Given the description of an element on the screen output the (x, y) to click on. 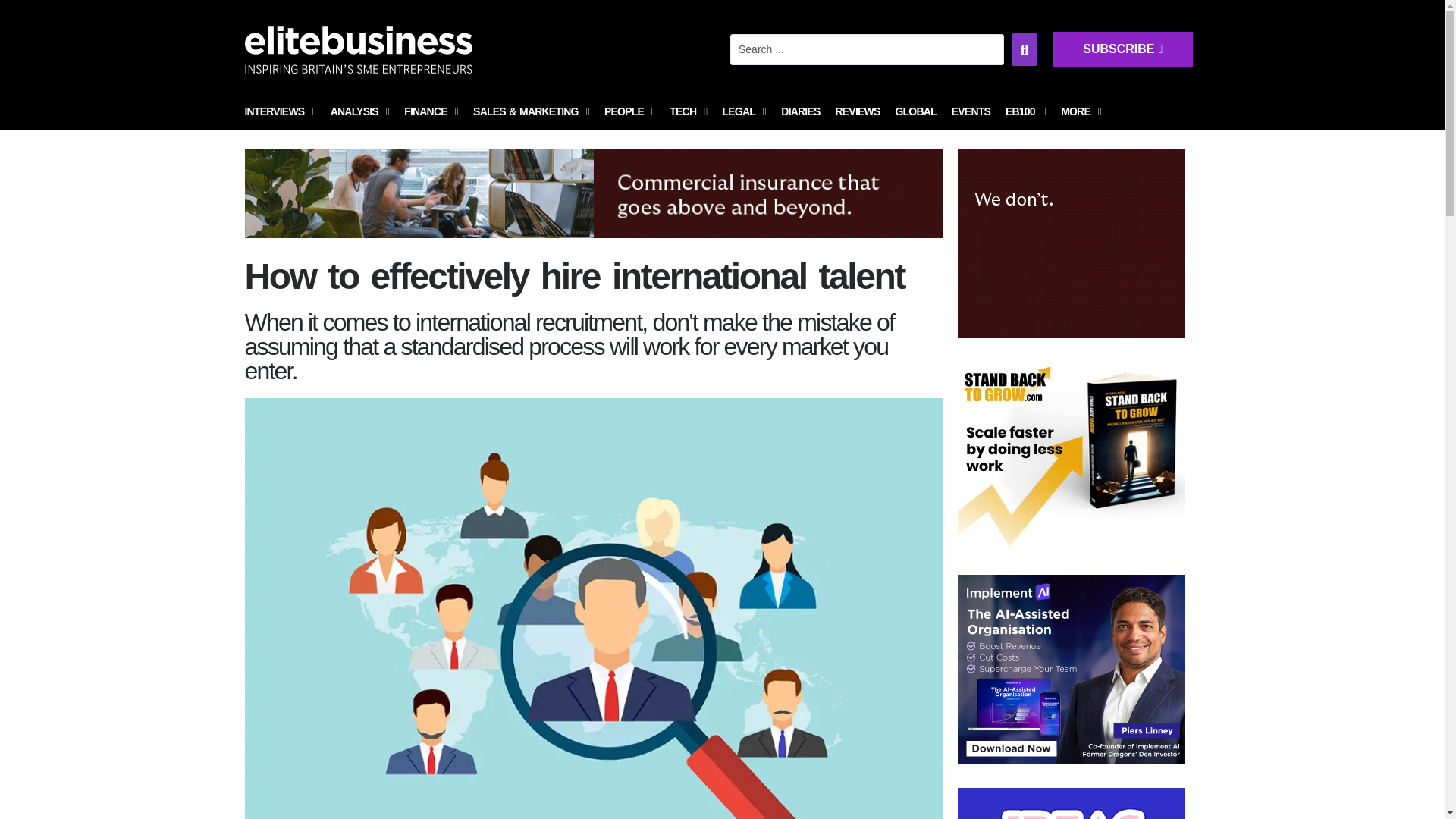
SUBSCRIBE (1287, 63)
FINANCE (430, 112)
ANALYSIS (359, 112)
TECH (688, 112)
PEOPLE (629, 112)
INTERVIEWS (278, 112)
